Given the description of an element on the screen output the (x, y) to click on. 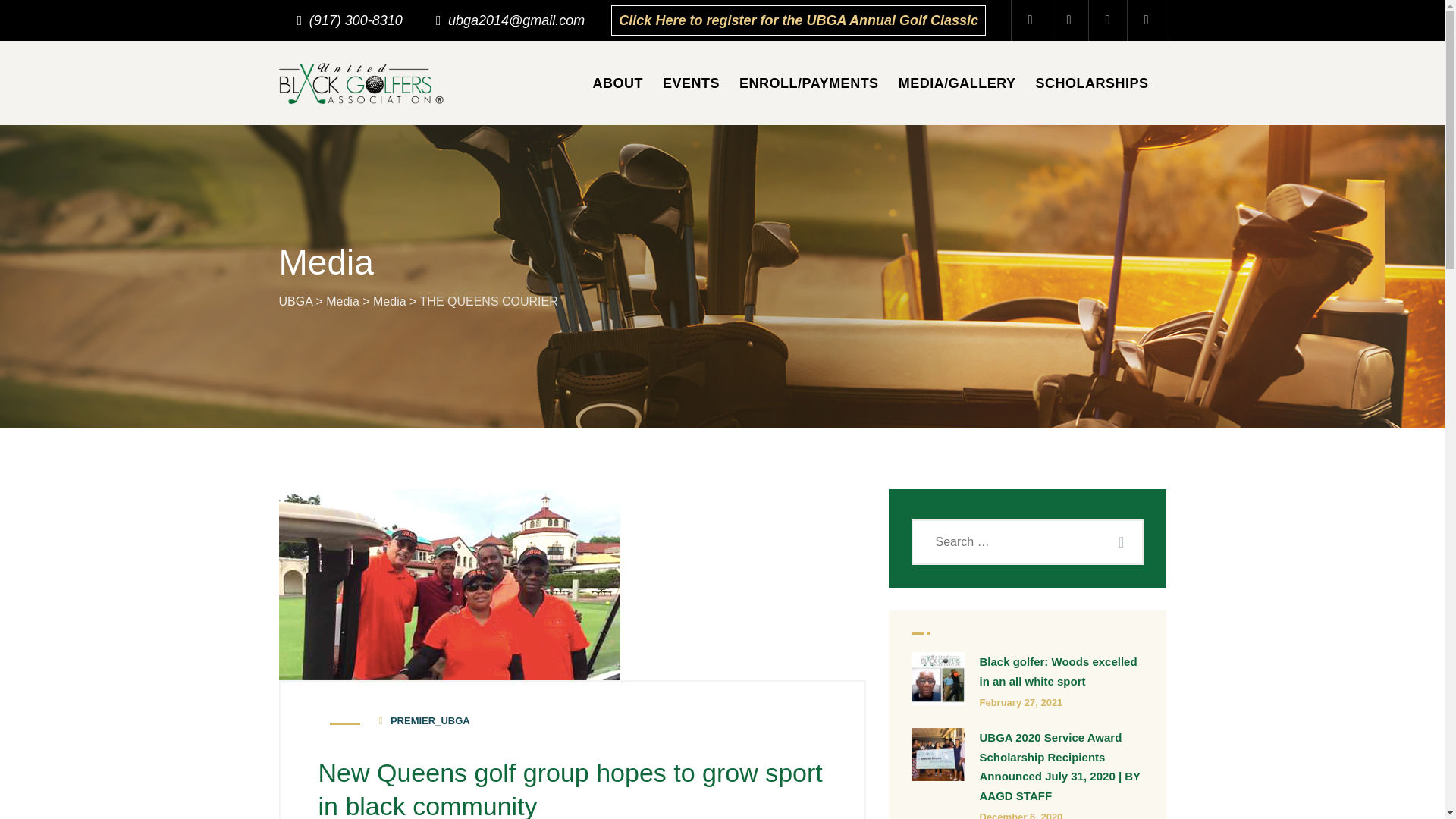
Go to Media. (342, 300)
Go to the Media Category archives. (389, 300)
SCHOLARSHIPS (1091, 83)
Go to UBGA. (296, 300)
UBGA (296, 300)
Click Here to register for the UBGA Annual Golf Classic (798, 20)
UBGA (361, 83)
